Given the description of an element on the screen output the (x, y) to click on. 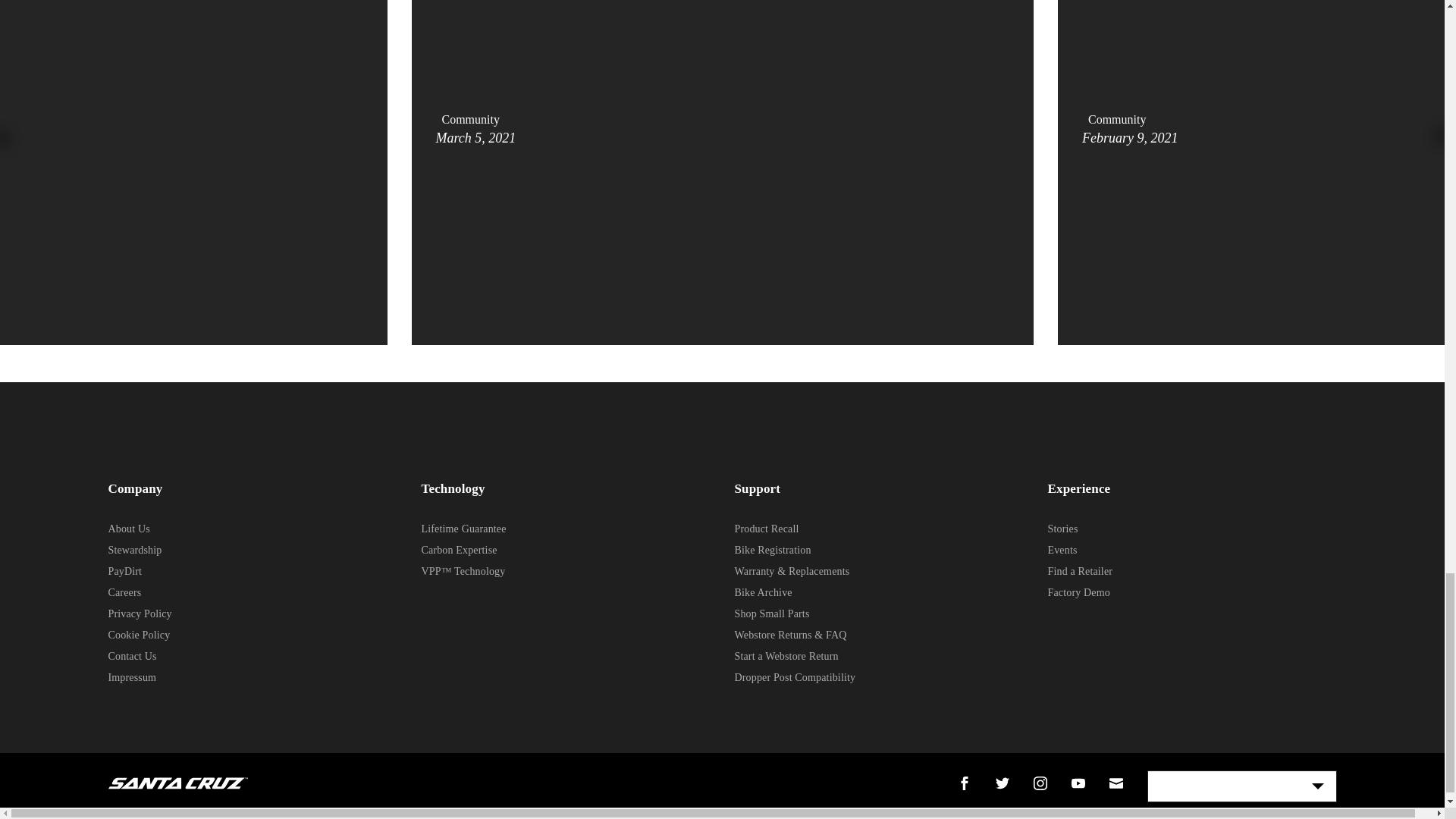
Santa Cruz Bicycles on YouTube (1077, 783)
Contact Santa Cruz Bicycles (1115, 783)
Santa Cruz Logo Inline (177, 783)
Santa Cruz Bicycles on Instagram (1039, 783)
Santa Cruz Bicycles on Twitter (1001, 783)
Santa Cruz Bicycles on Facebook (963, 783)
